Given the description of an element on the screen output the (x, y) to click on. 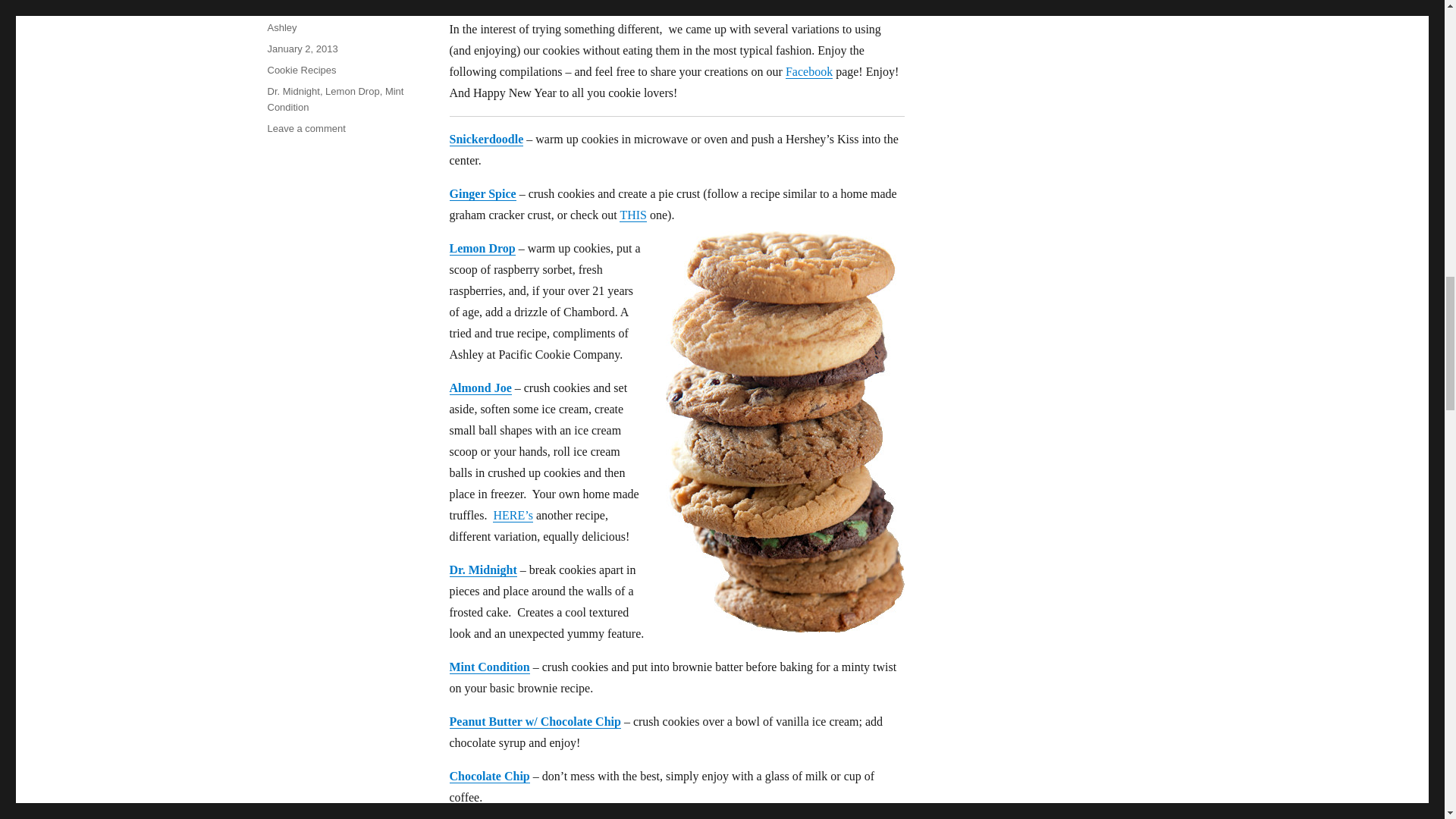
Dr. Midnight (292, 91)
Snickerdoodle (485, 138)
Lemon Drop (352, 91)
Ginger Spice (481, 193)
Mint Condition (334, 99)
Chocolate Chip (488, 775)
Lemon Drop (481, 247)
January 2, 2013 (301, 48)
Ashley (281, 27)
Facebook (809, 71)
